Given the description of an element on the screen output the (x, y) to click on. 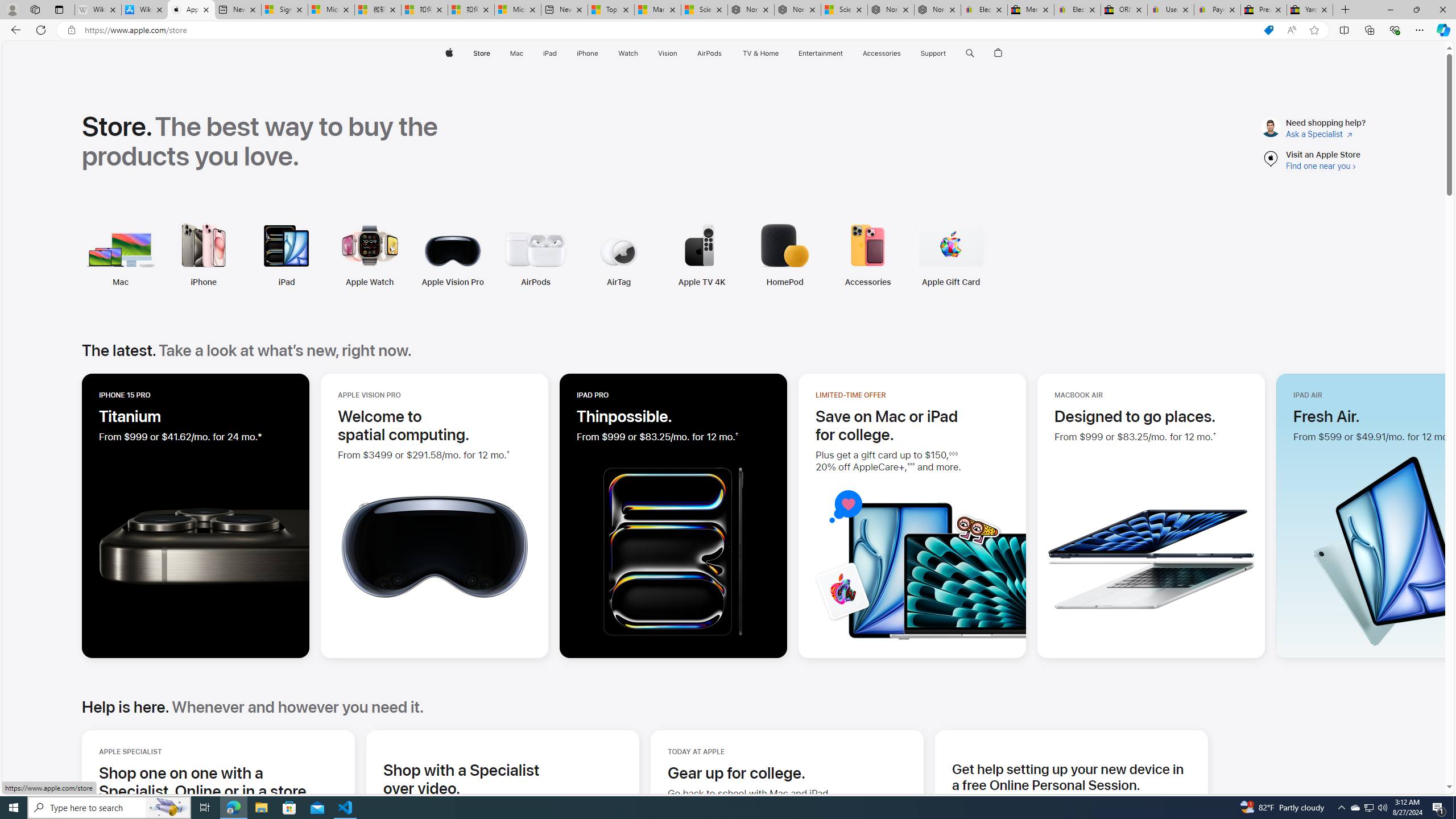
Shop with a Specialist over video. - (Opens in a new window) (461, 778)
Vision (667, 53)
Apple Watch (368, 281)
Class: globalnav-item globalnav-search shift-0-1 (969, 53)
Apple Gift Card (951, 281)
Nordace - FAQ (937, 9)
Class: globalnav-submenu-trigger-item (948, 53)
AirPods (535, 281)
Microsoft account | Account Checkup (517, 9)
